Given the description of an element on the screen output the (x, y) to click on. 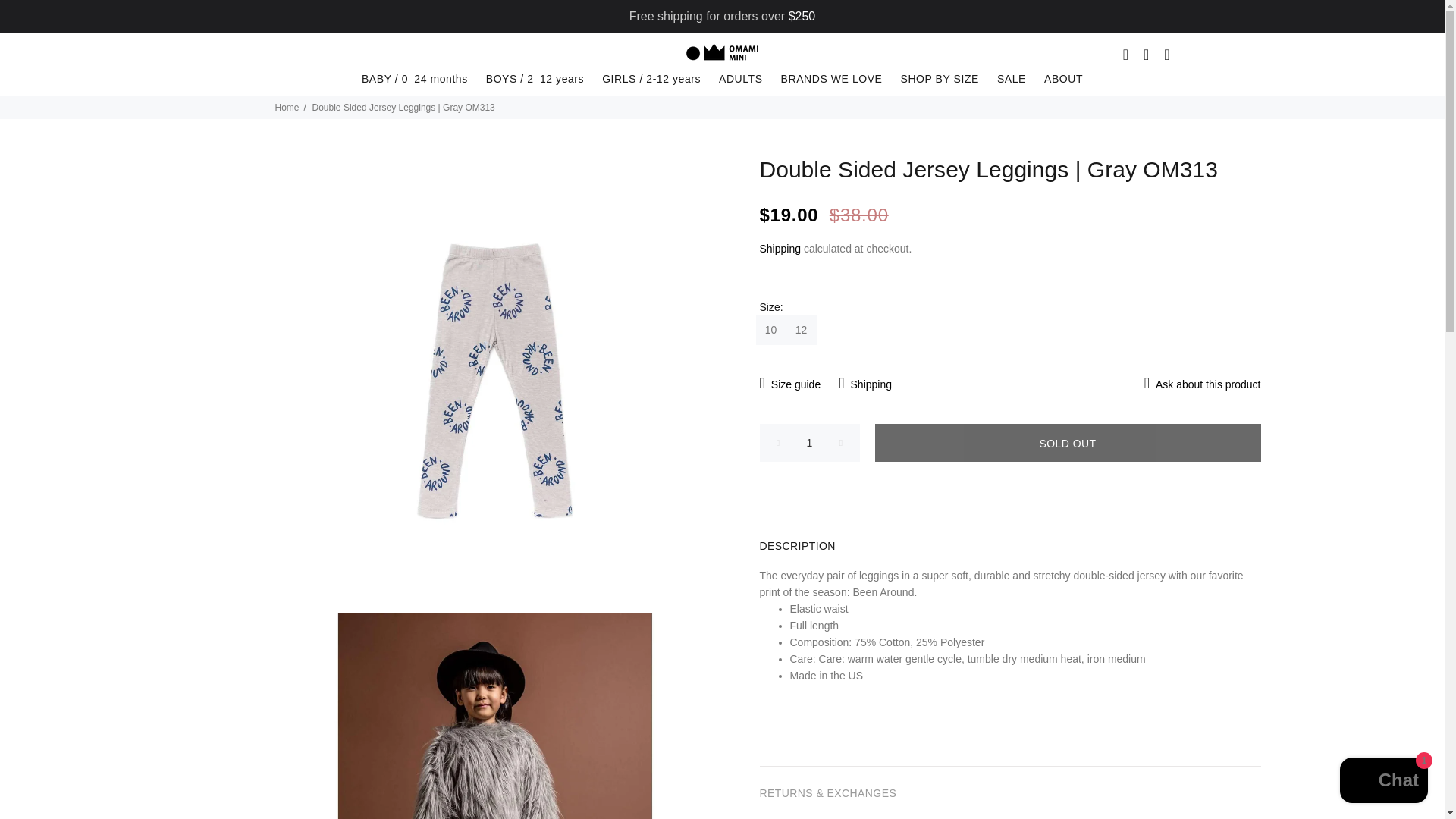
Shopify online store chat (1383, 781)
1 (810, 442)
